Given the description of an element on the screen output the (x, y) to click on. 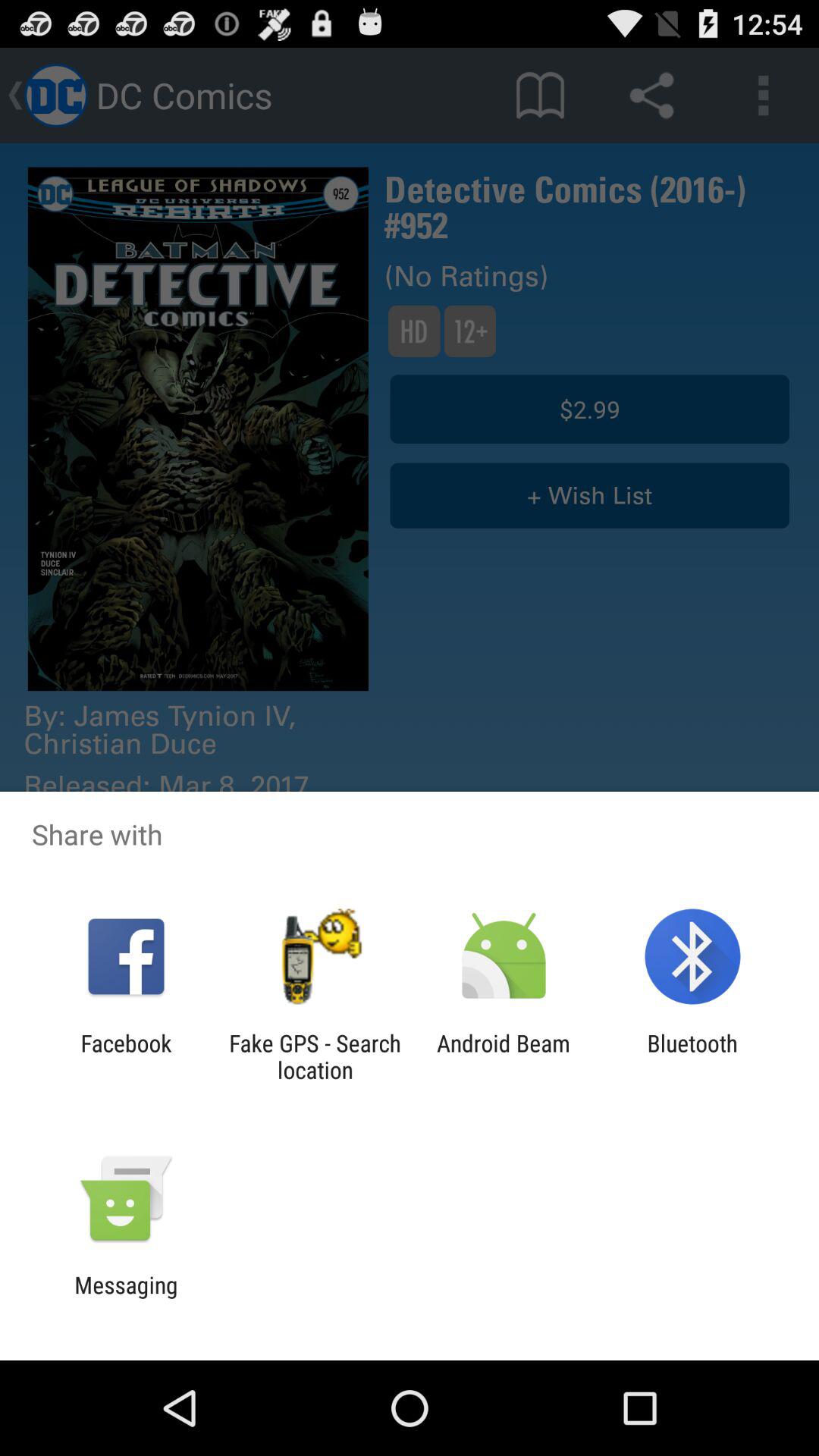
jump to facebook item (125, 1056)
